Given the description of an element on the screen output the (x, y) to click on. 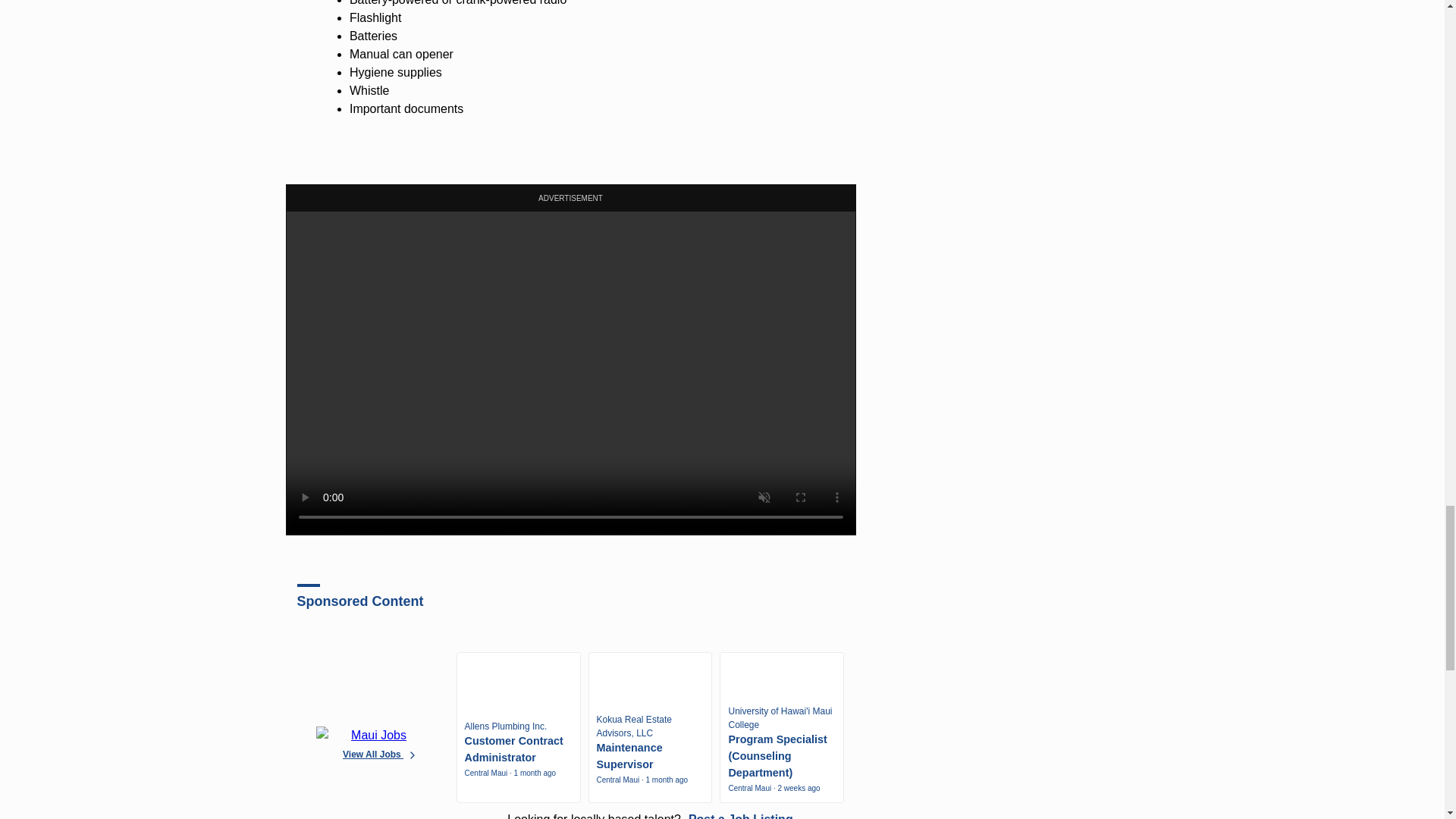
Chevron Forward (412, 755)
